Given the description of an element on the screen output the (x, y) to click on. 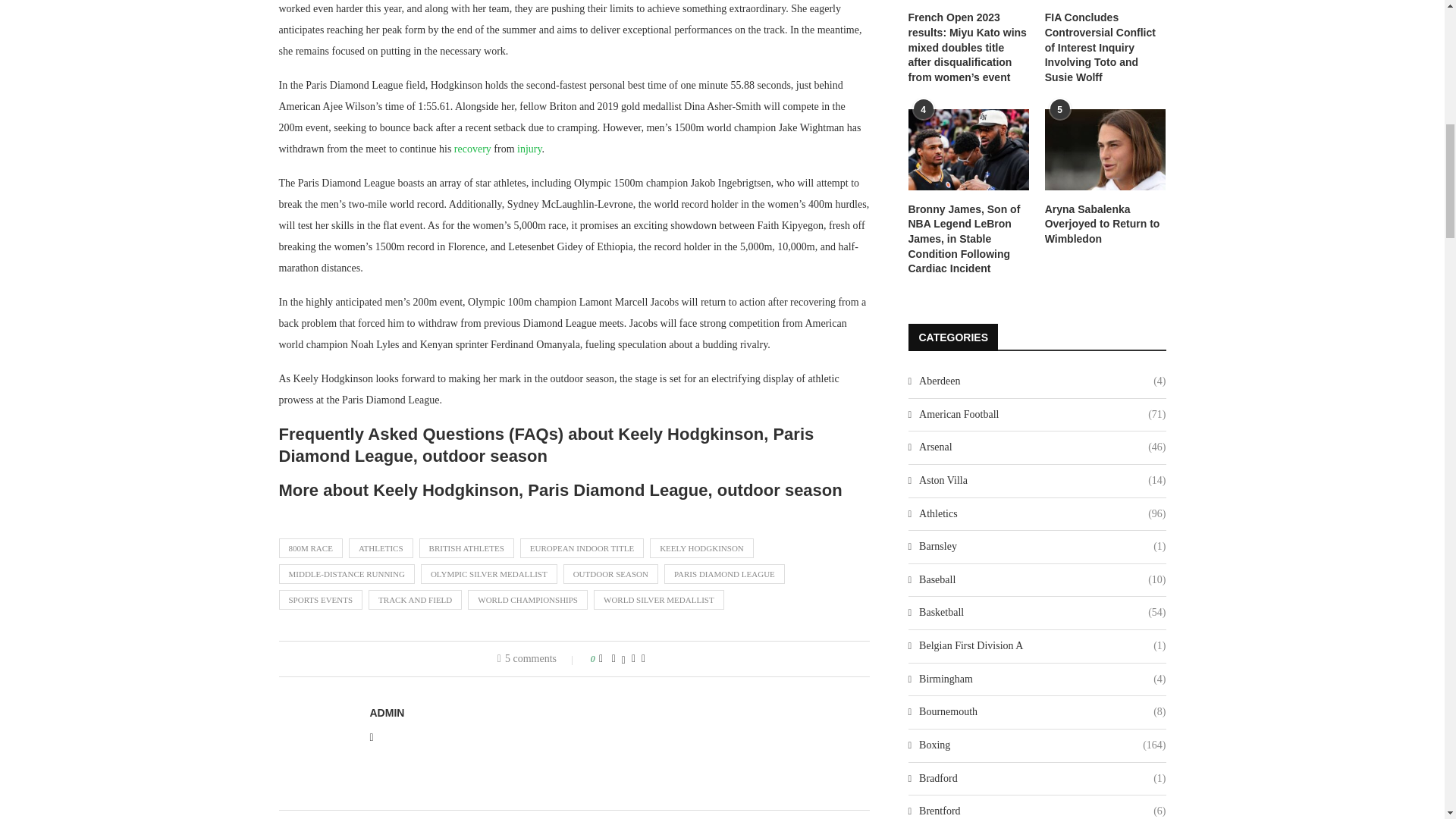
800M RACE (310, 547)
injury (528, 148)
PARIS DIAMOND LEAGUE (723, 573)
OUTDOOR SEASON (610, 573)
KEELY HODGKINSON (701, 547)
recovery (473, 148)
MIDDLE-DISTANCE RUNNING (346, 573)
Author admin (386, 712)
OLYMPIC SILVER MEDALLIST (488, 573)
EUROPEAN INDOOR TITLE (581, 547)
BRITISH ATHLETES (466, 547)
ATHLETICS (381, 547)
